Given the description of an element on the screen output the (x, y) to click on. 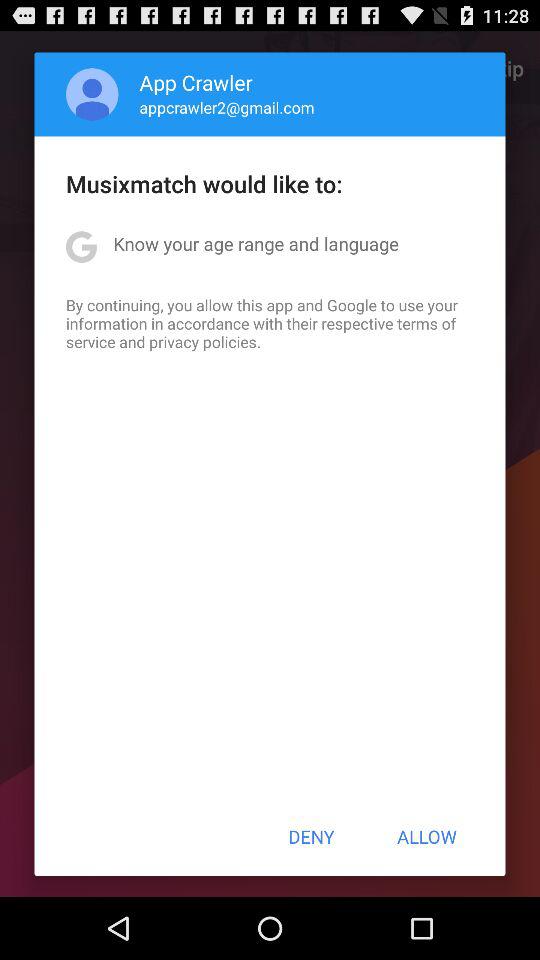
turn off appcrawler2@gmail.com item (226, 107)
